Given the description of an element on the screen output the (x, y) to click on. 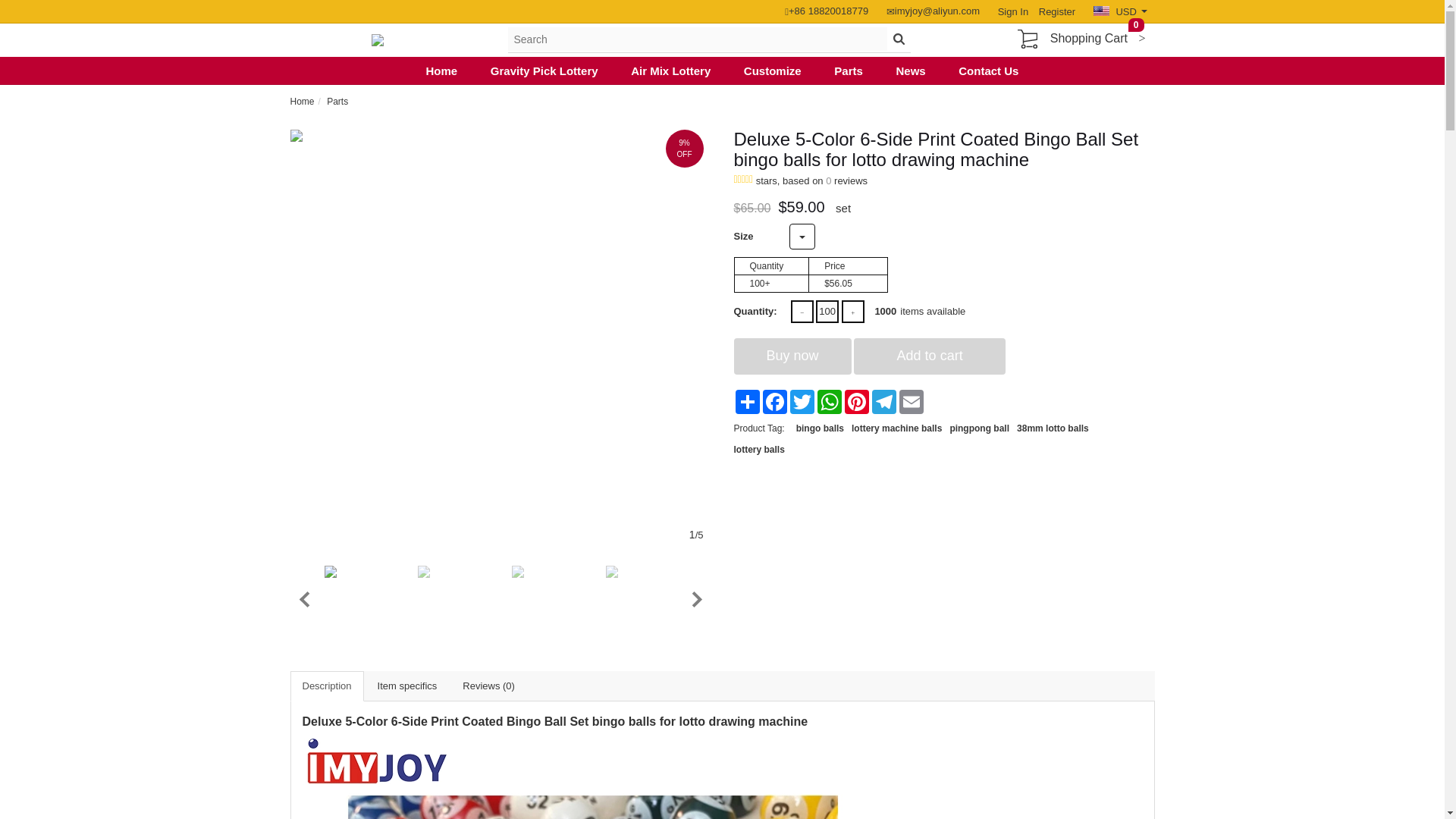
Air mix lottery (670, 70)
Customize (773, 70)
Customize (773, 70)
100 (826, 311)
News (909, 70)
Gravity Pick Lottery (544, 70)
USD (1120, 11)
Parts (848, 70)
Register (1052, 11)
